Given the description of an element on the screen output the (x, y) to click on. 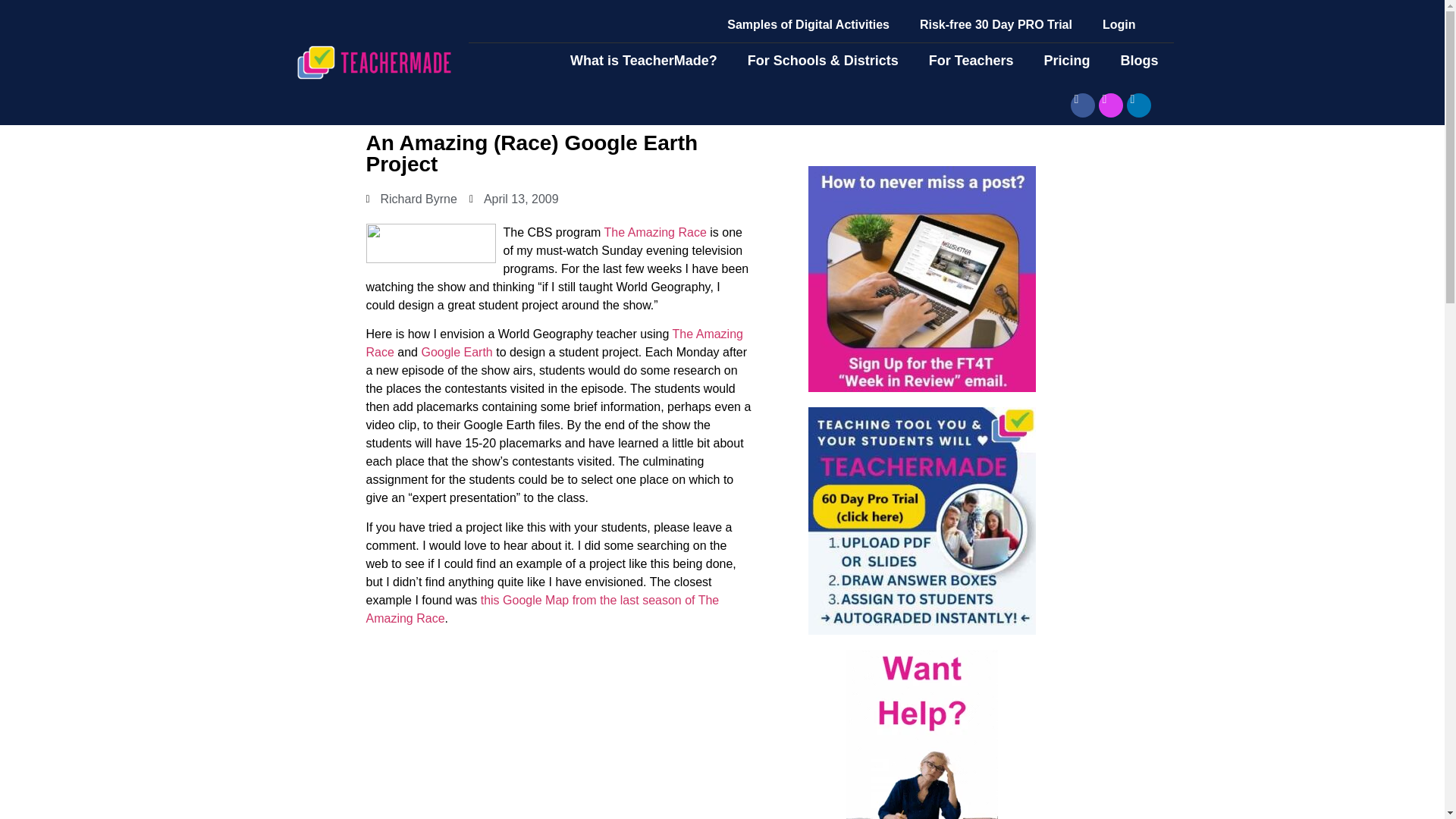
Risk-free 30 Day PRO Trial (995, 24)
For Teachers (971, 60)
Samples of Digital Activities (807, 24)
Blogs (1139, 60)
Pricing (1066, 60)
What is TeacherMade? (643, 60)
Login (1119, 24)
